Given the description of an element on the screen output the (x, y) to click on. 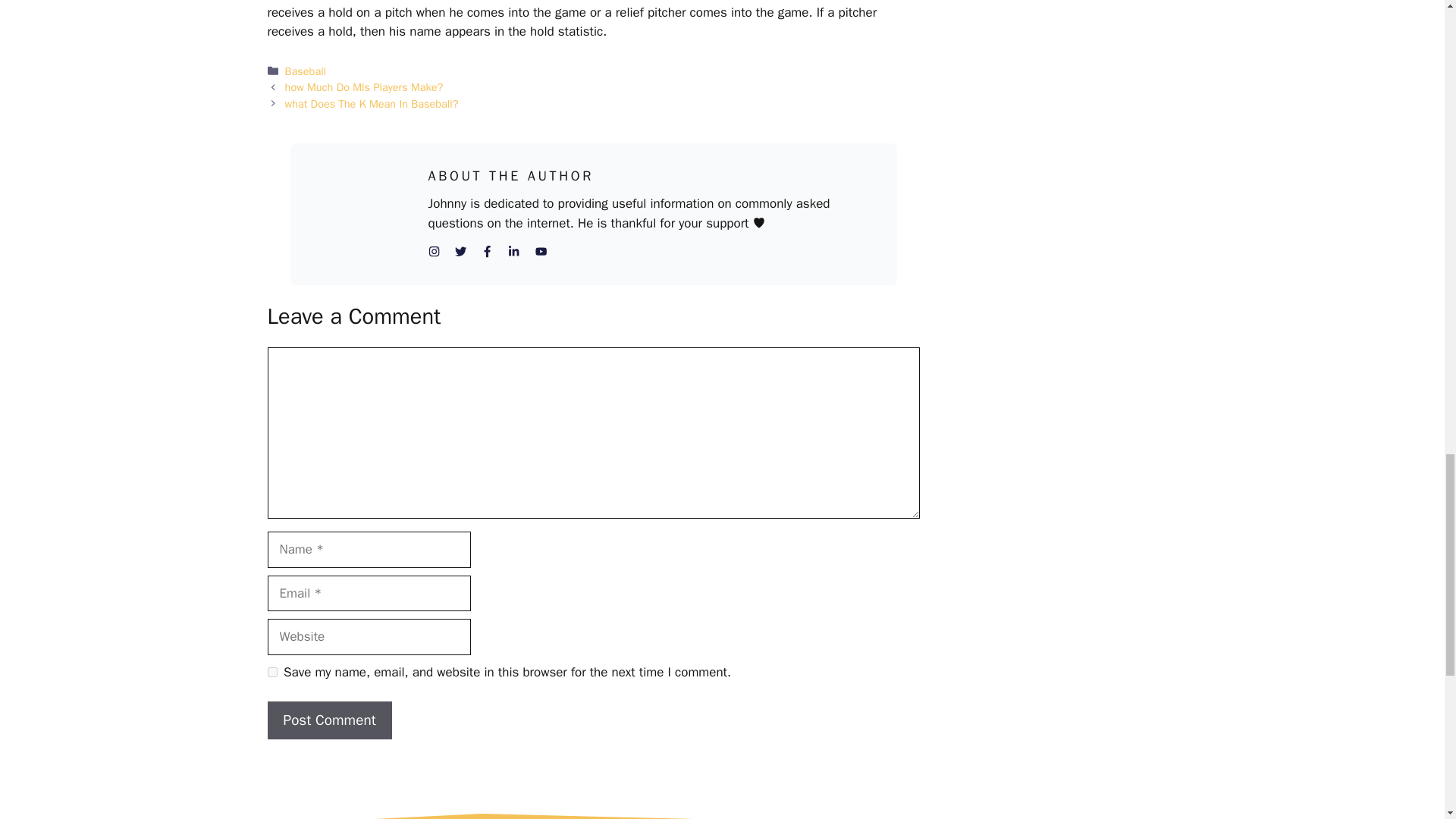
yes (271, 672)
Post Comment (328, 720)
Baseball (305, 70)
Post Comment (328, 720)
